Given the description of an element on the screen output the (x, y) to click on. 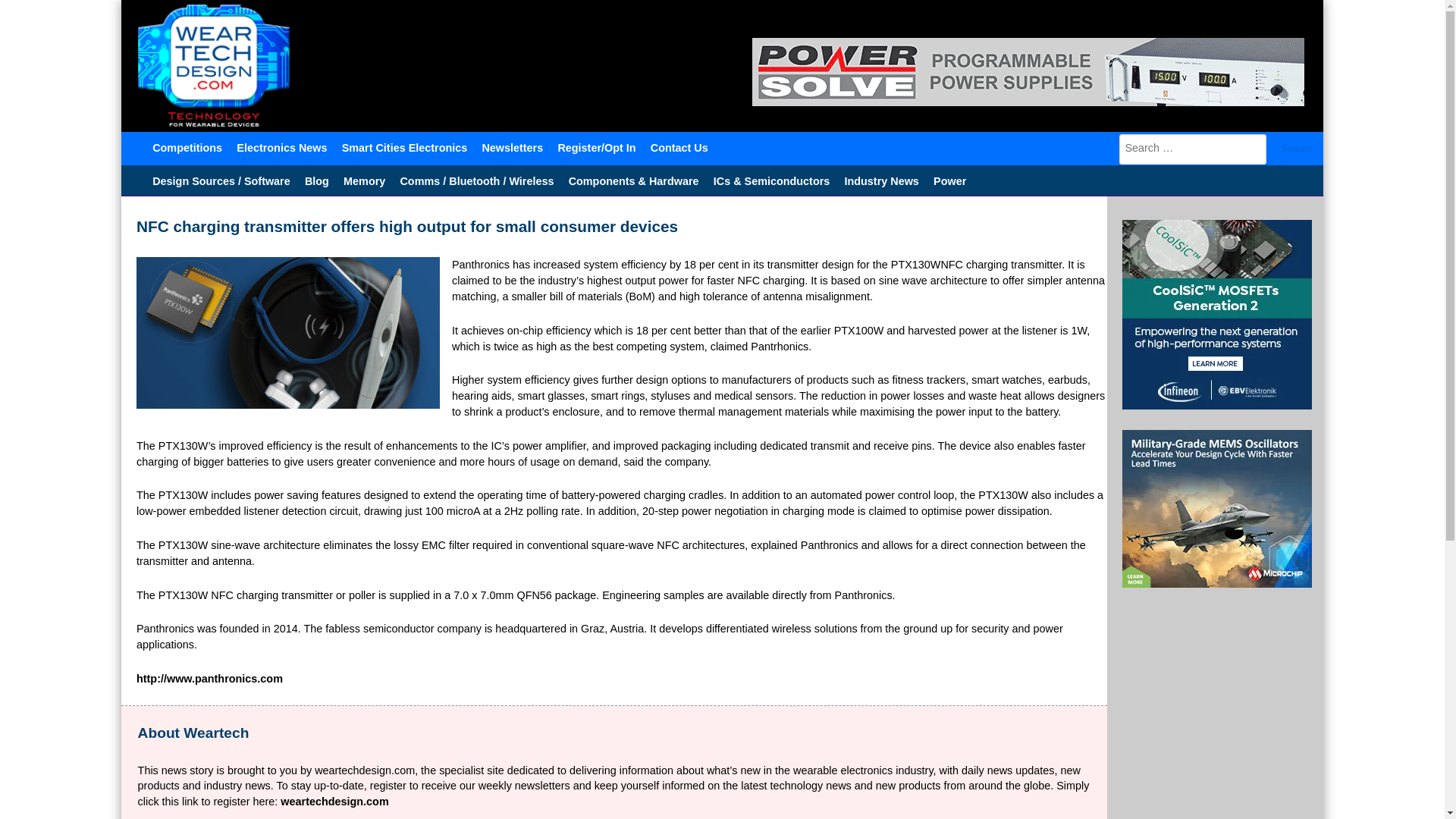
Contact Us (678, 146)
Power (949, 180)
Search (1296, 148)
Newsletters (512, 146)
Competitions (187, 146)
Search (1296, 148)
Industry News (881, 180)
Electronics News (282, 146)
Search (1296, 148)
Search for: (1192, 149)
